Given the description of an element on the screen output the (x, y) to click on. 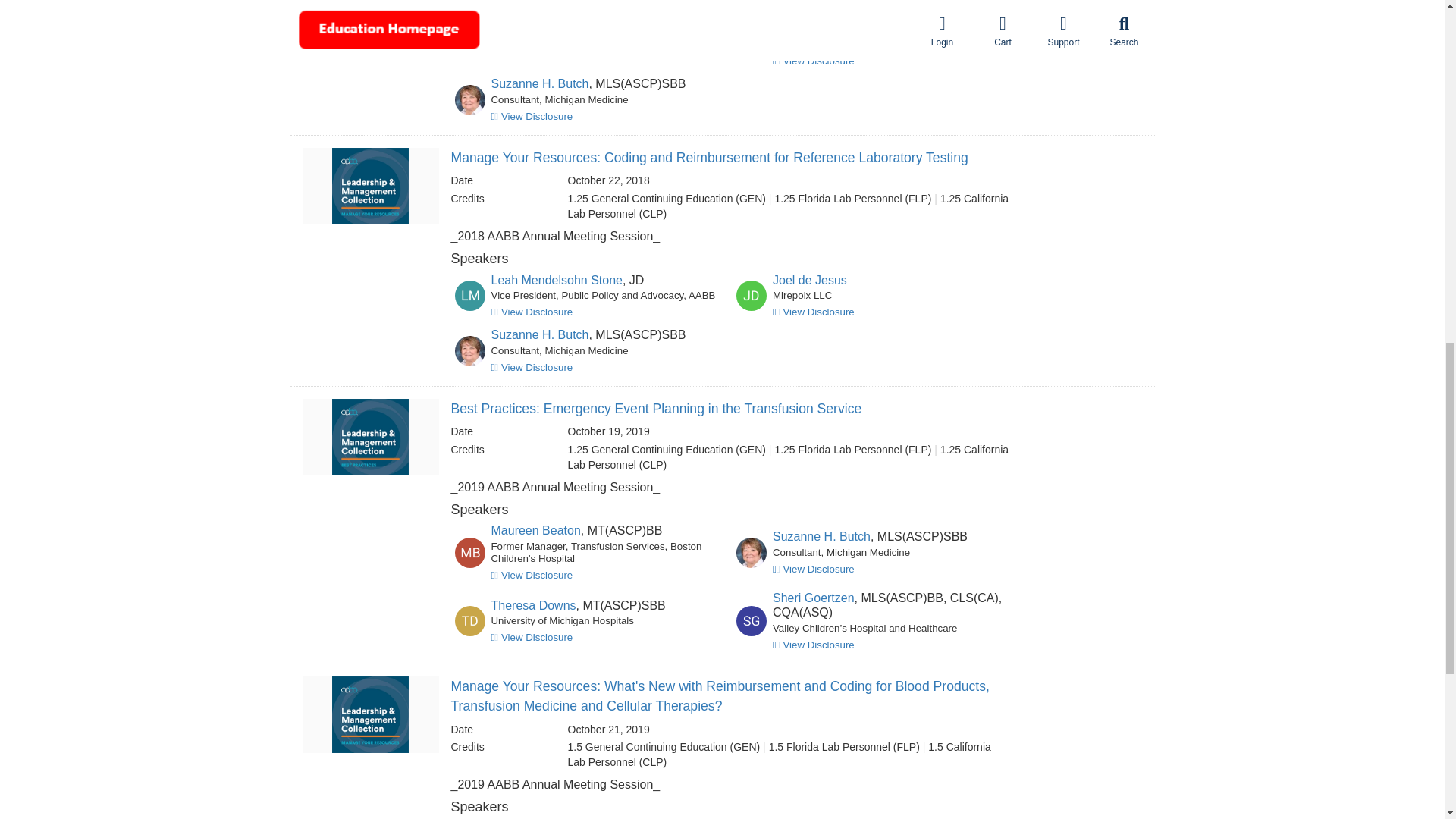
Suzanne H. Butch (821, 535)
Joel de Jesus (810, 279)
View Disclosure (532, 367)
View Disclosure (532, 48)
View Disclosure (532, 574)
Speaker Image for Sheri Goertzen (751, 621)
Suzanne H. Butch (540, 83)
Speaker Image for Theresa Downs (469, 621)
Sheri Goertzen (813, 597)
Theresa Downs (534, 604)
View Disclosure (532, 636)
View Disclosure (532, 311)
Speaker Image for Suzanne Butch (751, 552)
Leah Mendelsohn Stone (557, 16)
Mary Berg (800, 5)
